Given the description of an element on the screen output the (x, y) to click on. 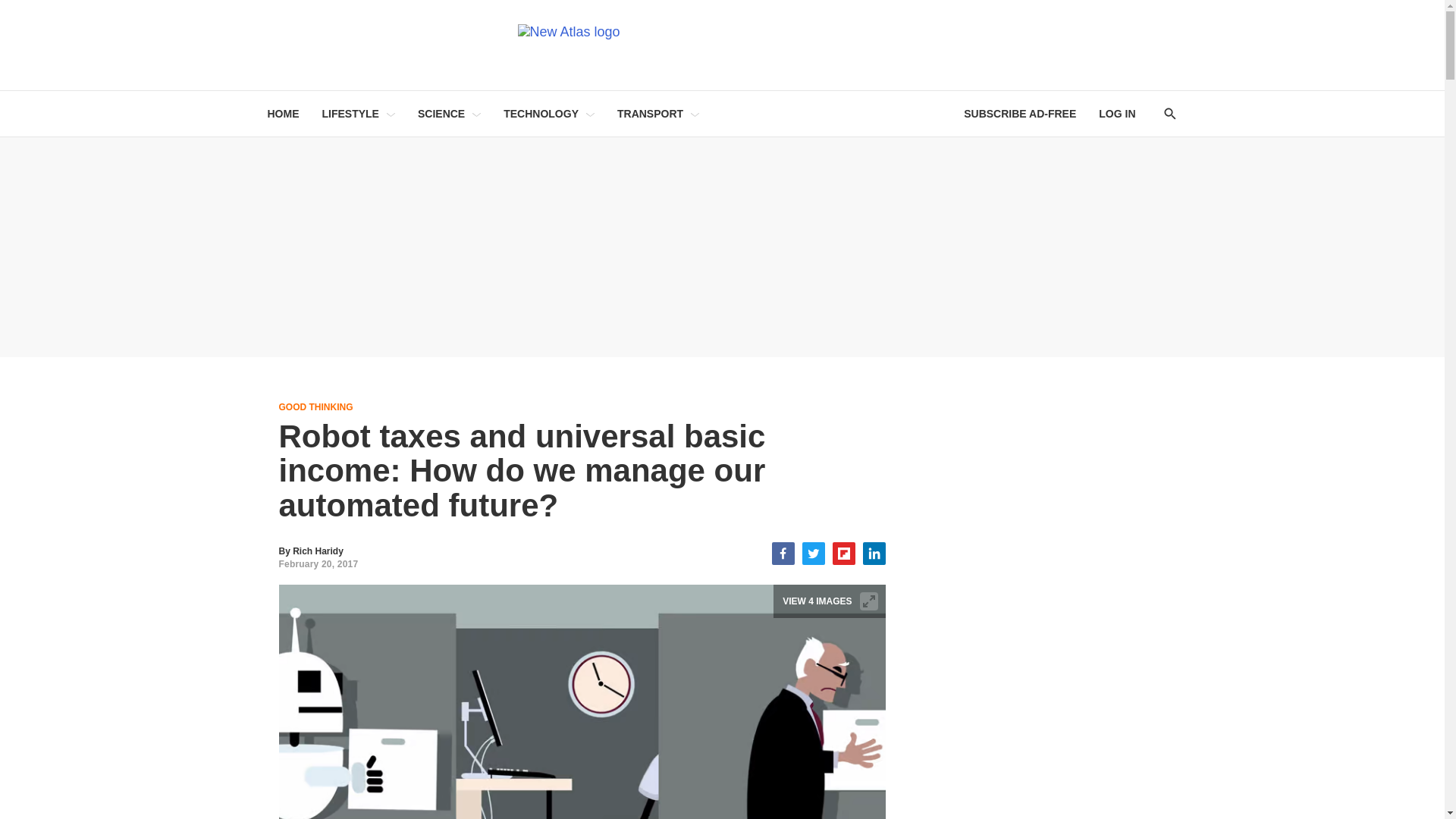
View full-screen (868, 601)
